Given the description of an element on the screen output the (x, y) to click on. 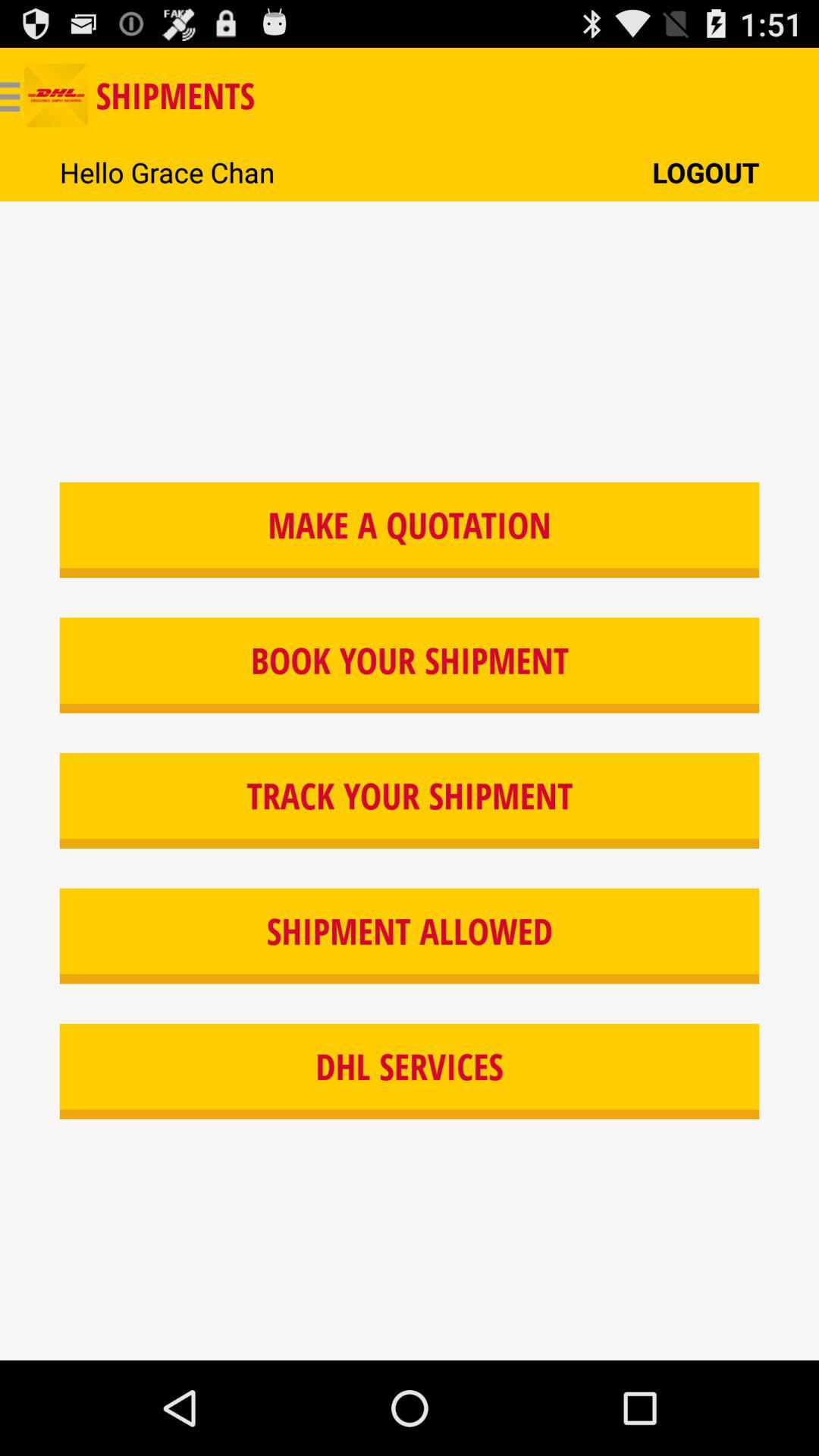
launch item below hello grace chan icon (409, 529)
